Given the description of an element on the screen output the (x, y) to click on. 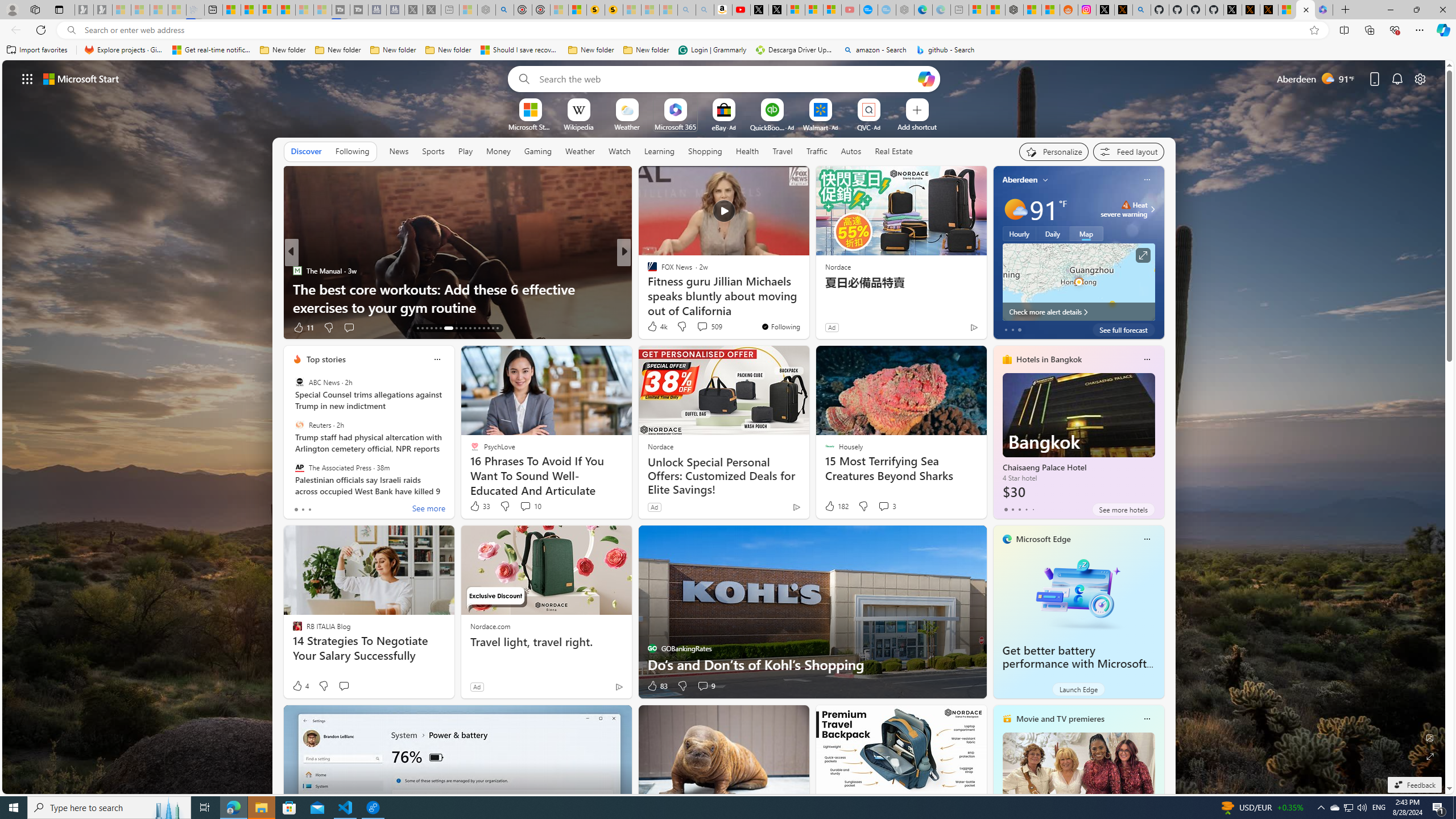
Notifications (1397, 78)
Real Estate (893, 151)
961 Like (654, 327)
amazon - Search - Sleeping (686, 9)
View comments 3 Comment (883, 505)
Profile / X (1232, 9)
AutomationID: tab-14 (422, 328)
Get better battery performance with Microsoft Edge (1077, 592)
AutomationID: tab-26 (483, 328)
Play (465, 151)
See more hotels (1123, 509)
